Given the description of an element on the screen output the (x, y) to click on. 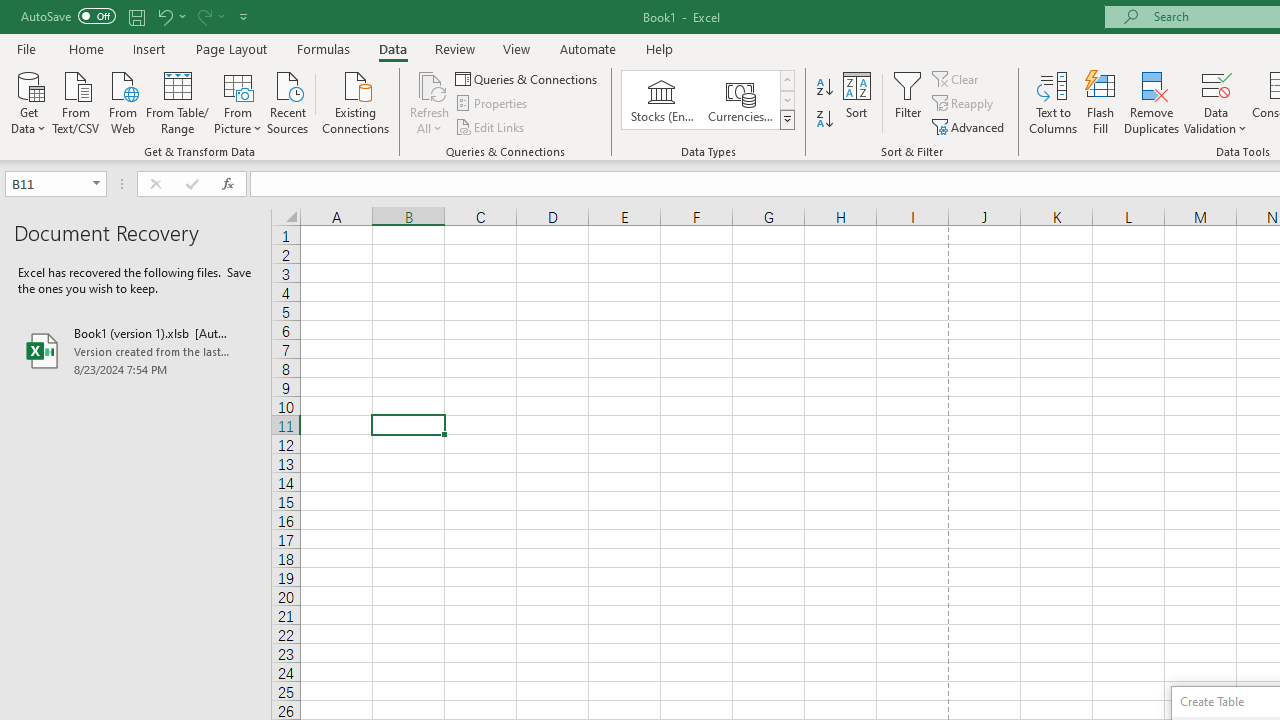
From Table/Range (177, 101)
Queries & Connections (527, 78)
Data Types (786, 120)
Sort Z to A (824, 119)
Remove Duplicates (1151, 102)
Advanced... (970, 126)
